Given the description of an element on the screen output the (x, y) to click on. 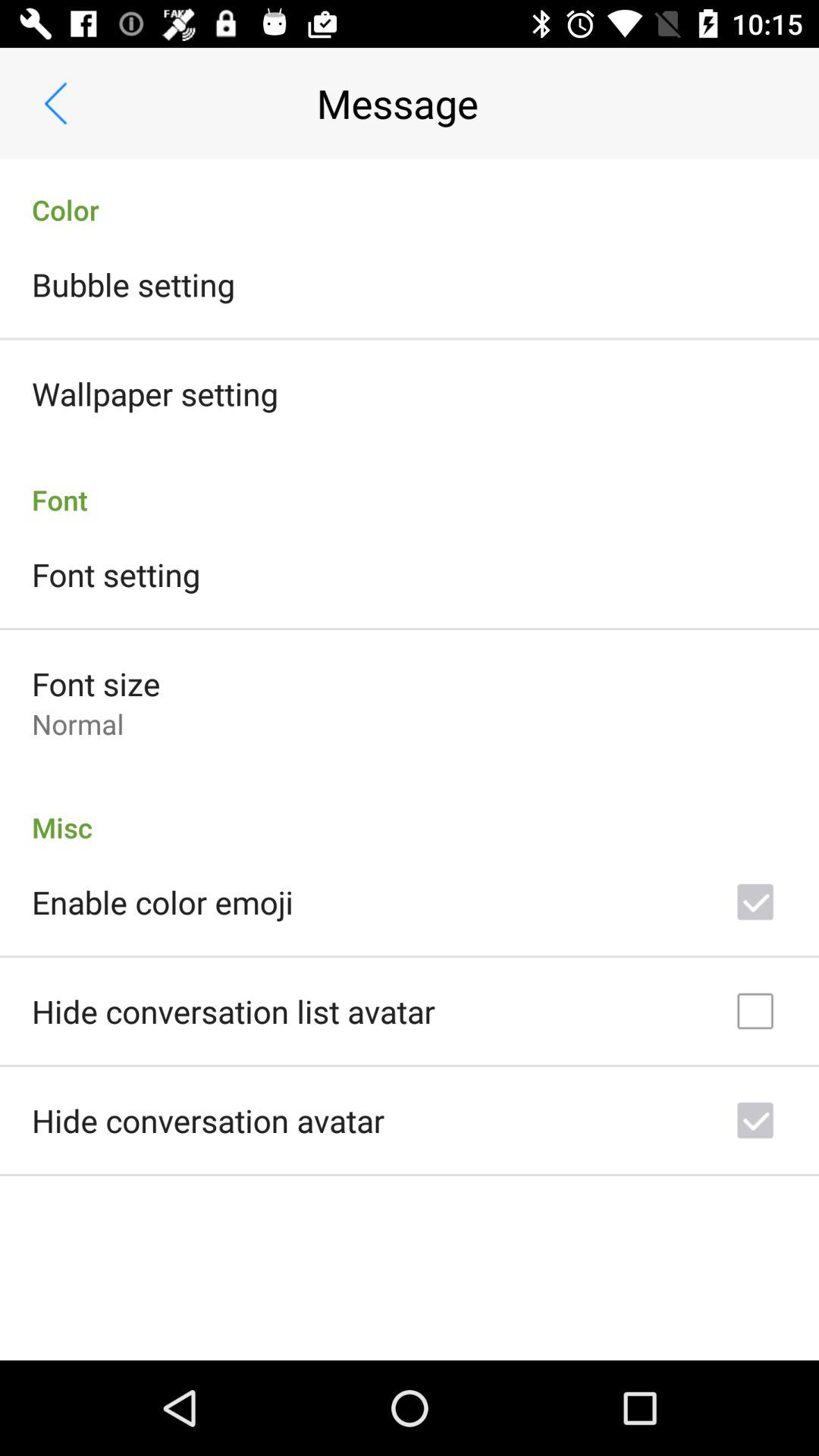
launch the normal icon (77, 723)
